Given the description of an element on the screen output the (x, y) to click on. 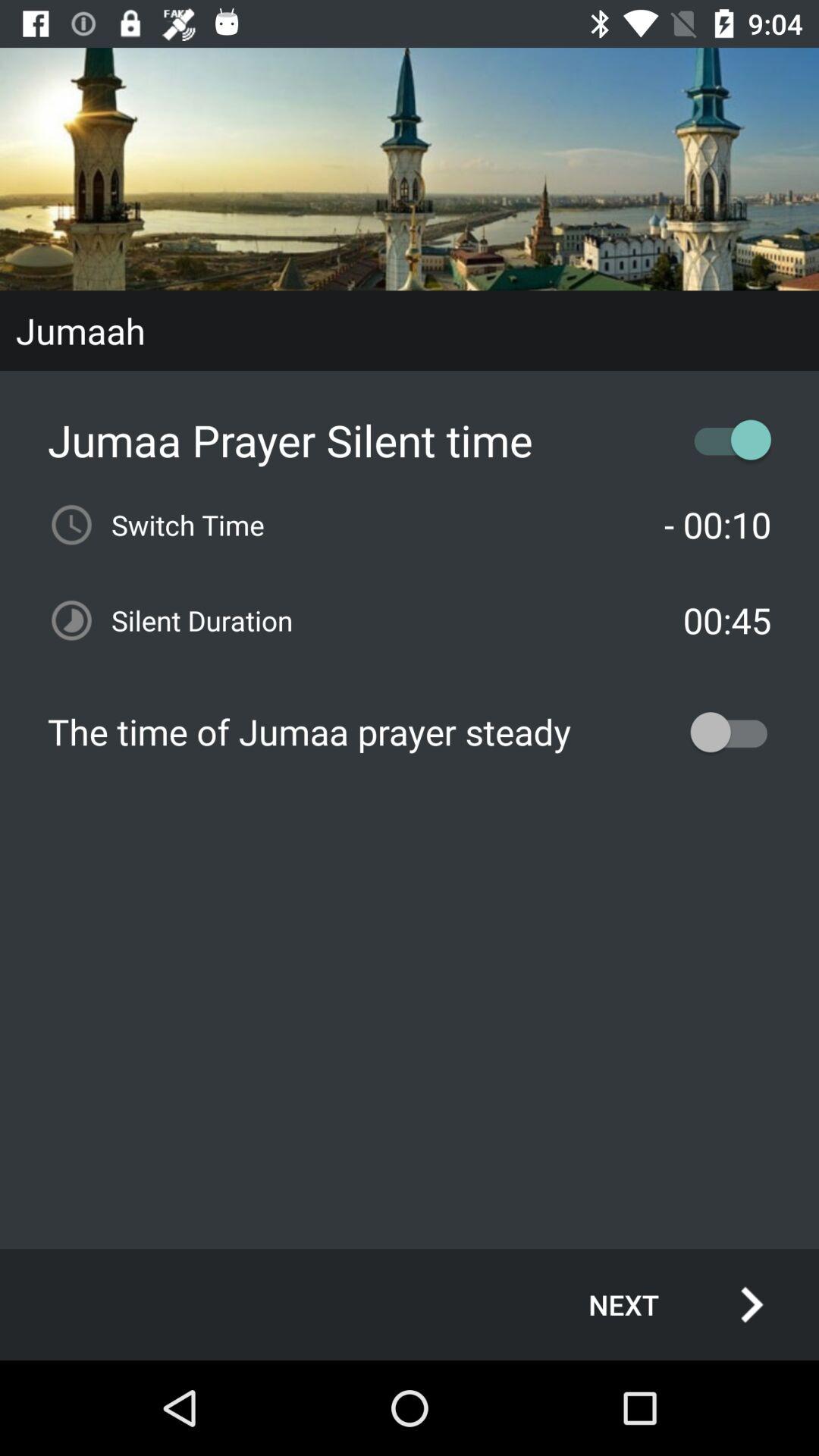
swipe to the the time of item (409, 731)
